Given the description of an element on the screen output the (x, y) to click on. 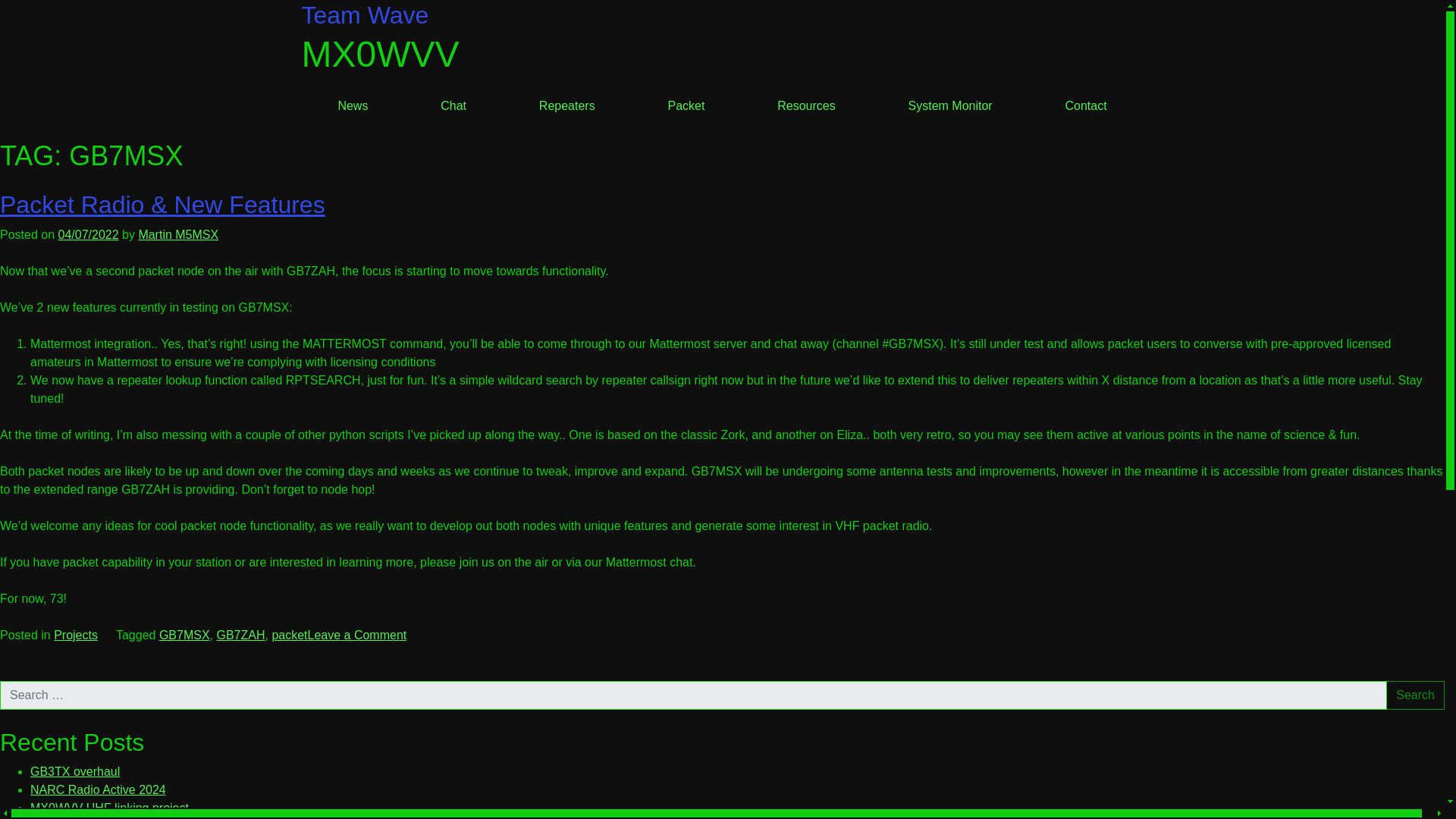
Projects (75, 634)
GB7ZAH (239, 634)
GB7MSX (183, 634)
MX0WVV UHF linking project (109, 807)
packet (288, 634)
Repeaters (566, 105)
System Monitor (950, 105)
Search (1415, 695)
Contact (1085, 105)
News (352, 105)
